Given the description of an element on the screen output the (x, y) to click on. 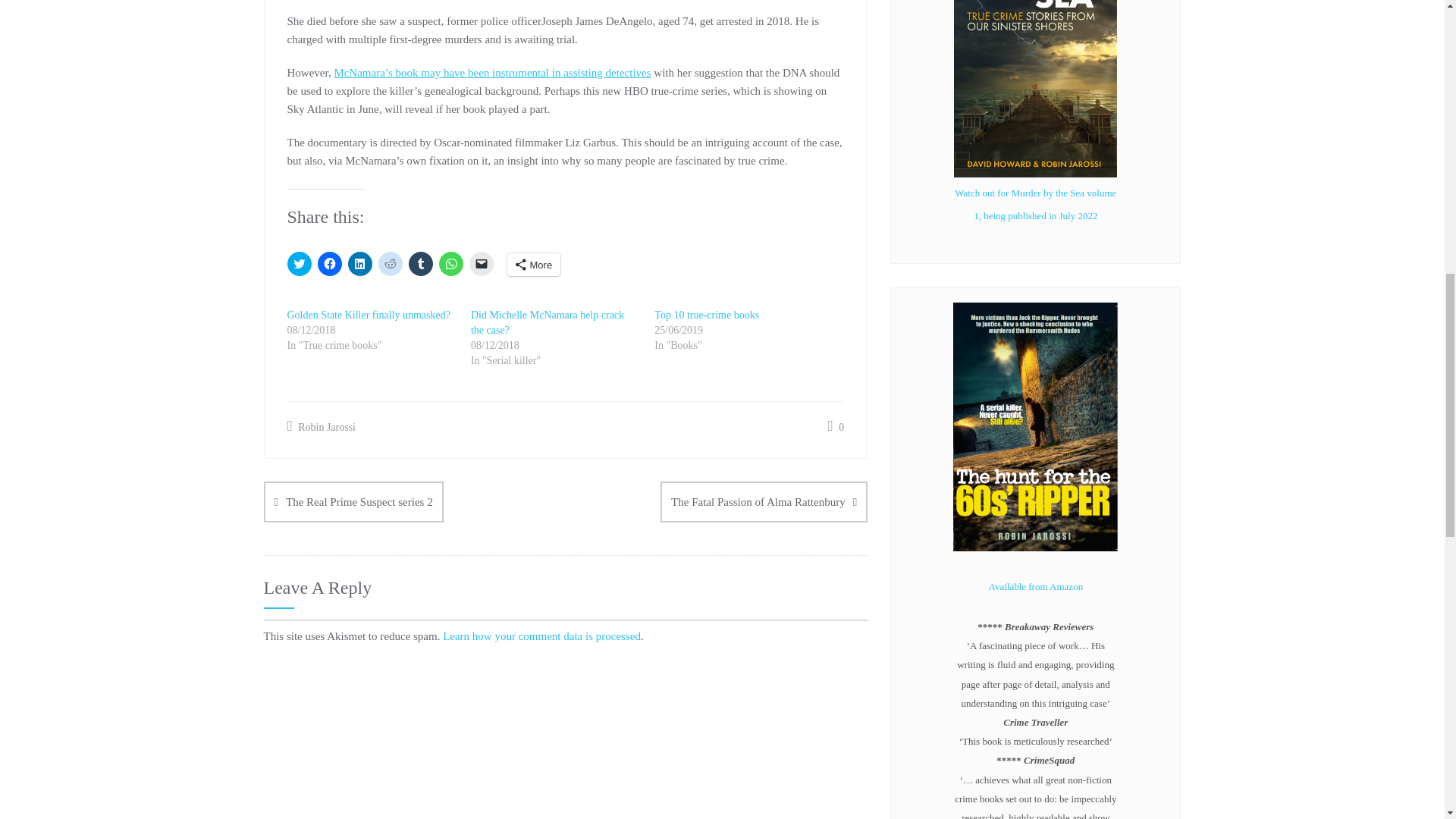
Click to share on WhatsApp (450, 263)
Click to share on LinkedIn (359, 263)
Click to share on Tumblr (419, 263)
More (533, 264)
Click to share on Twitter (298, 263)
Did Michelle McNamara help crack the case? (547, 322)
Click to share on Facebook (328, 263)
Click to email a link to a friend (480, 263)
Golden State Killer finally unmasked? (367, 315)
Did Michelle McNamara help crack the case? (547, 322)
Top 10 true-crime books (705, 315)
Golden State Killer finally unmasked? (367, 315)
Click to share on Reddit (389, 263)
